Given the description of an element on the screen output the (x, y) to click on. 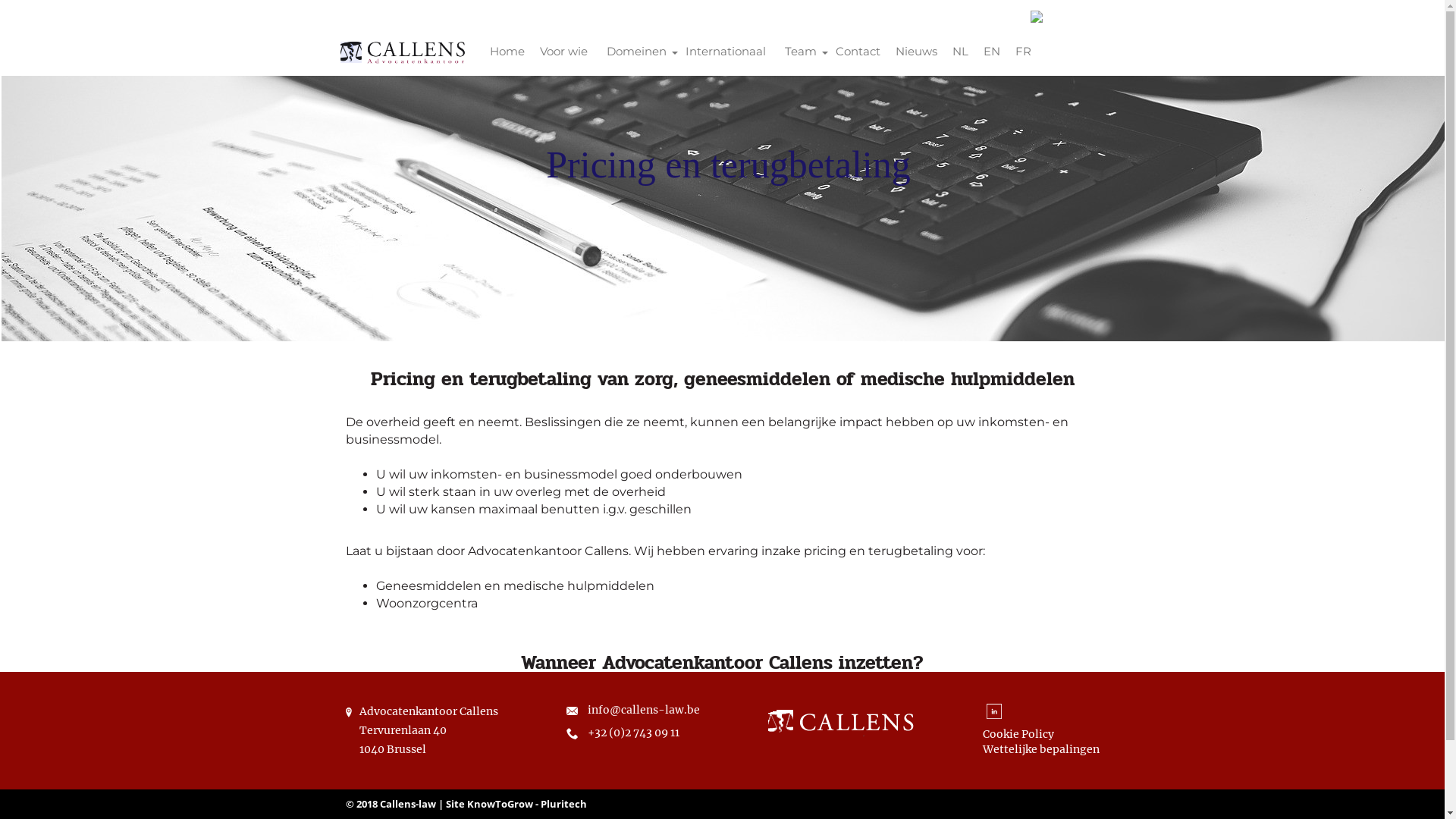
info@callens-law.be Element type: text (642, 709)
Voor wie Element type: text (563, 51)
Cookie Policy Element type: text (1018, 733)
Pluritech Element type: text (562, 803)
NL Element type: text (959, 51)
Nieuws Element type: text (915, 51)
EN Element type: text (991, 51)
Home Element type: text (507, 51)
Contacteer ons Element type: text (873, 797)
Wettelijke bepalingen Element type: text (1040, 749)
FR Element type: text (1022, 51)
Domeinen Element type: text (636, 50)
Contacteer ons Element type: text (570, 797)
Site KnowToGrow Element type: text (489, 803)
Contact Element type: text (858, 51)
Team Element type: text (799, 50)
Internationaal Element type: text (725, 51)
